Given the description of an element on the screen output the (x, y) to click on. 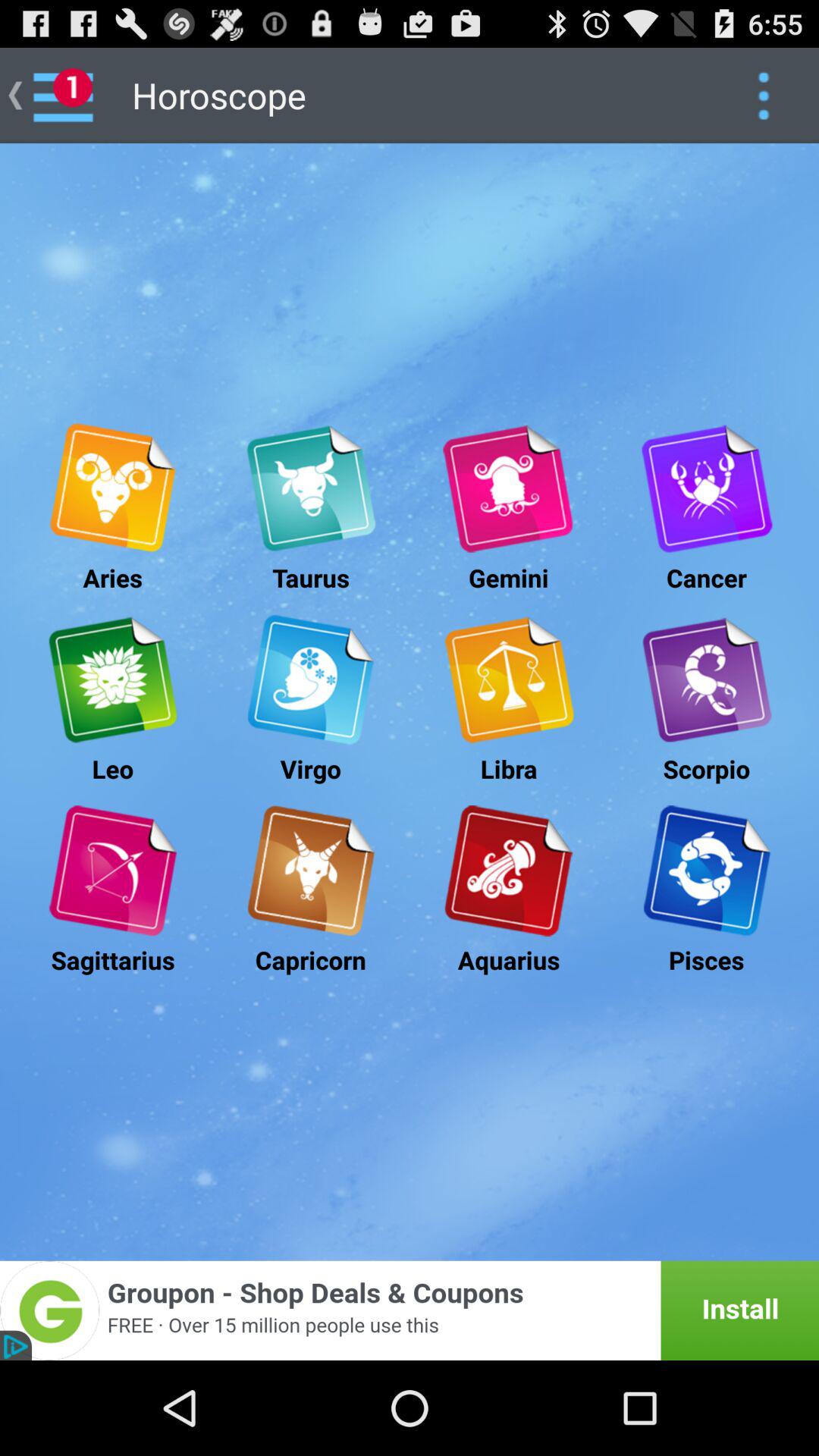
add the option (409, 1310)
